Given the description of an element on the screen output the (x, y) to click on. 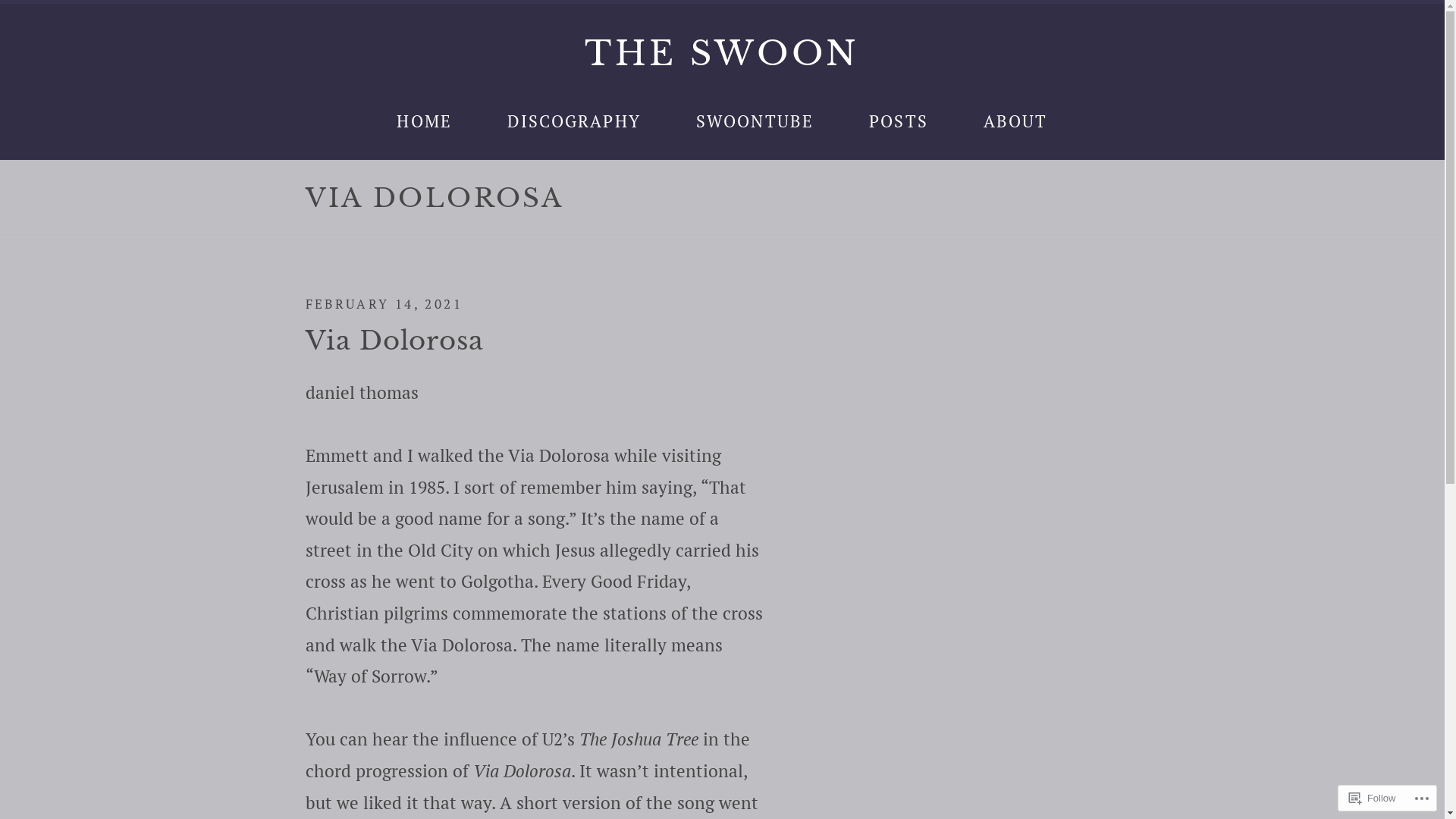
DISCOGRAPHY Element type: text (573, 120)
HOME Element type: text (424, 120)
Follow Element type: text (1372, 797)
POSTS Element type: text (898, 120)
THE SWOON Element type: text (721, 53)
Via Dolorosa Element type: text (393, 340)
SWOONTUBE Element type: text (754, 120)
ABOUT Element type: text (1015, 120)
